Given the description of an element on the screen output the (x, y) to click on. 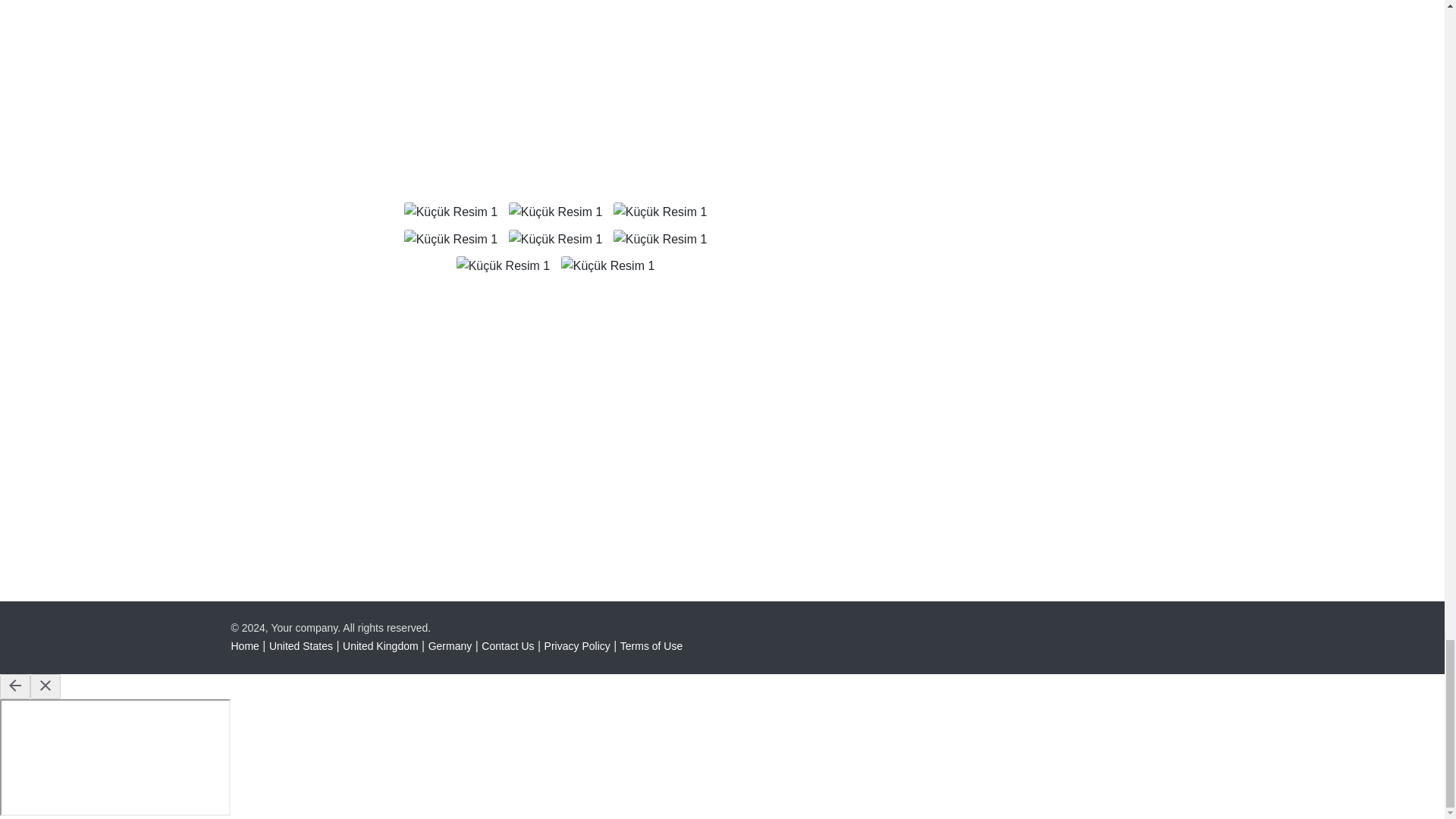
Contact Us (507, 645)
Terms of Use (651, 645)
United Kingdom (380, 645)
United States (301, 645)
Privacy Policy (577, 645)
Home (244, 645)
Germany (449, 645)
